Given the description of an element on the screen output the (x, y) to click on. 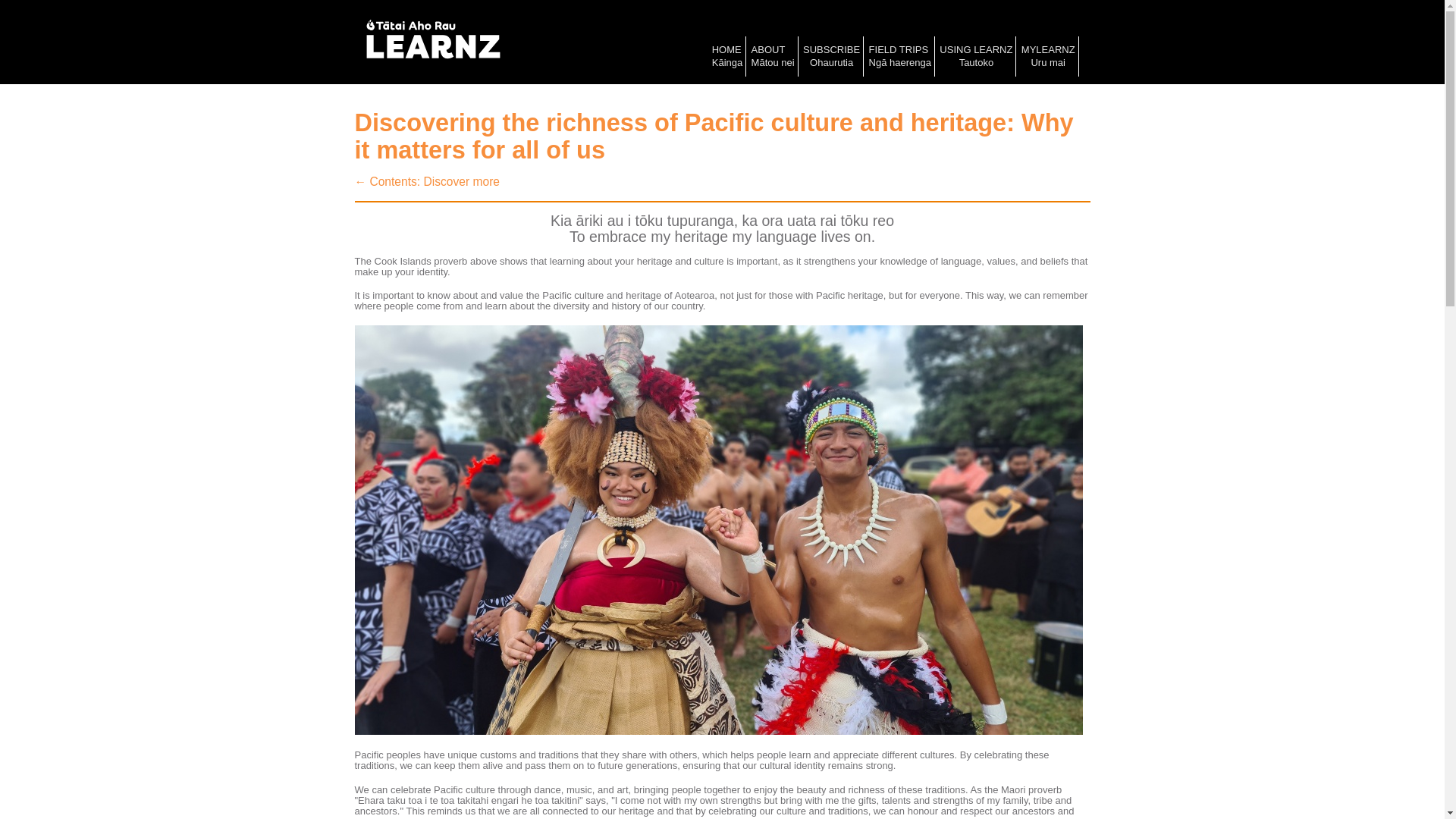
Educators, subscribe to LEARNZ - it's free. (831, 56)
SUBSCRIBE (831, 56)
The LEARNZ Home page (727, 56)
HOME (727, 56)
USING LEARNZ (975, 56)
ABOUT (772, 56)
MYLEARNZ (1047, 56)
What you need to use LEARNZ. (975, 56)
FIELD TRIPS (900, 56)
